Given the description of an element on the screen output the (x, y) to click on. 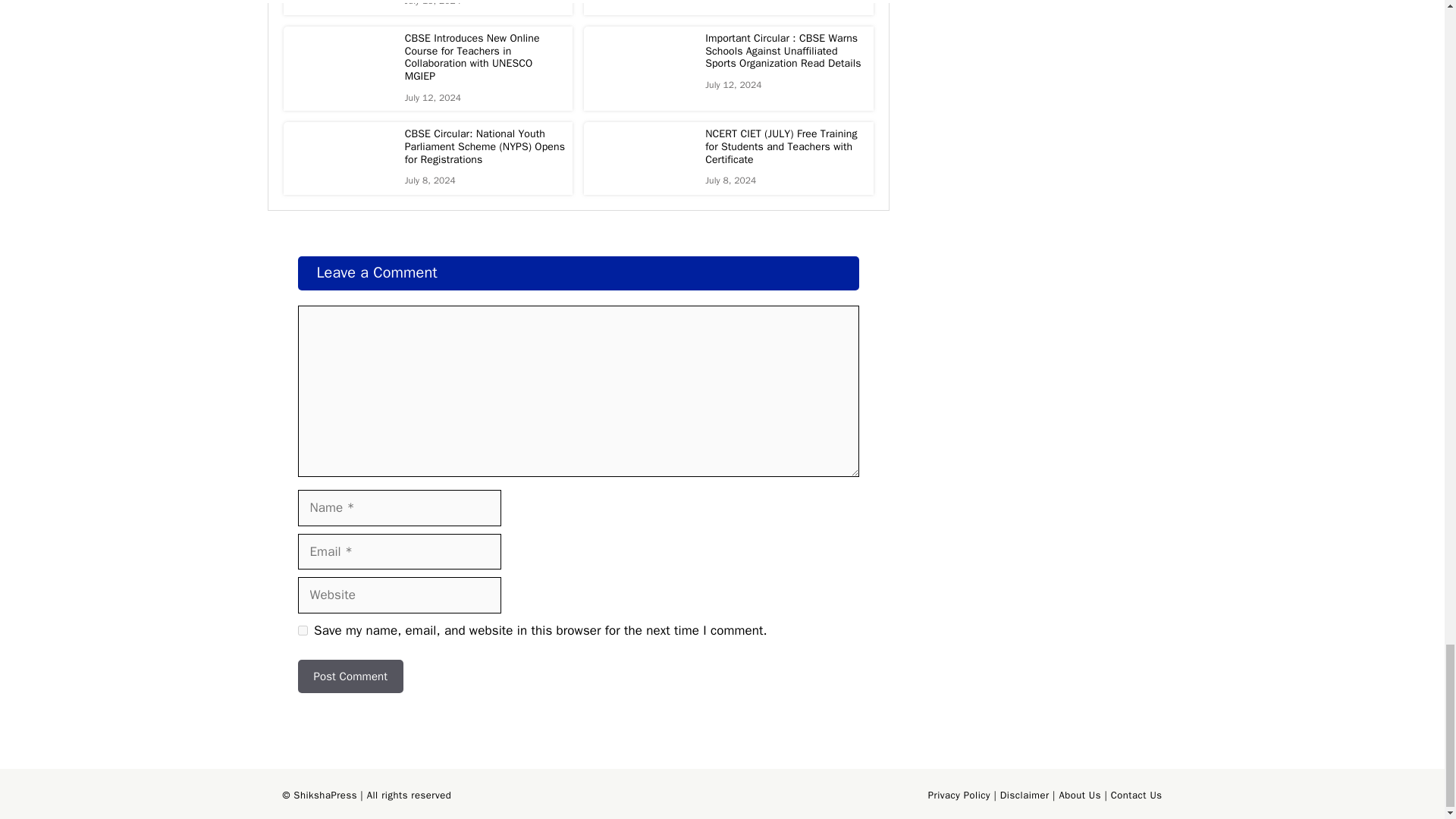
Post Comment (350, 676)
yes (302, 630)
